Given the description of an element on the screen output the (x, y) to click on. 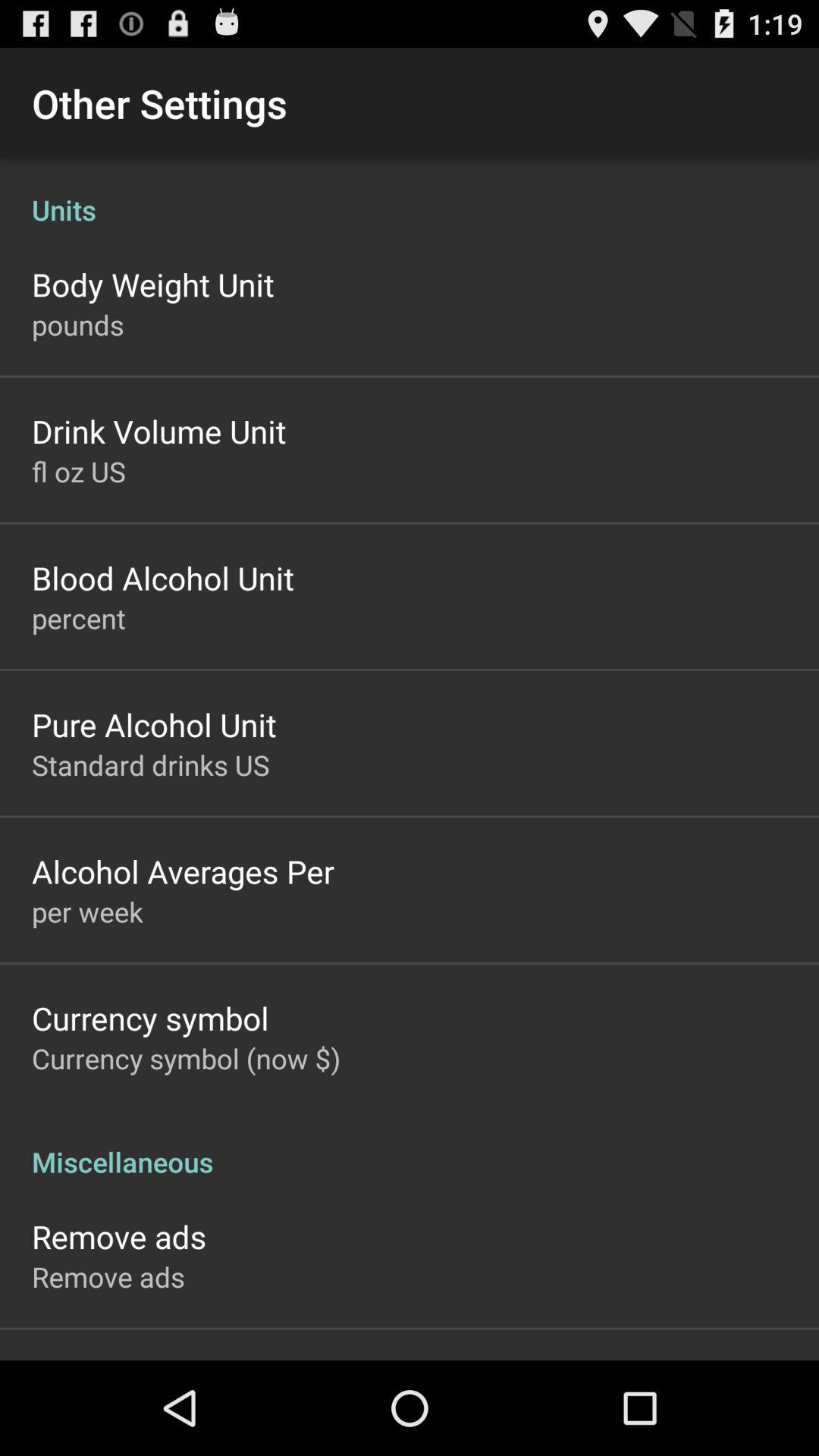
open the app above pure alcohol unit item (78, 618)
